Given the description of an element on the screen output the (x, y) to click on. 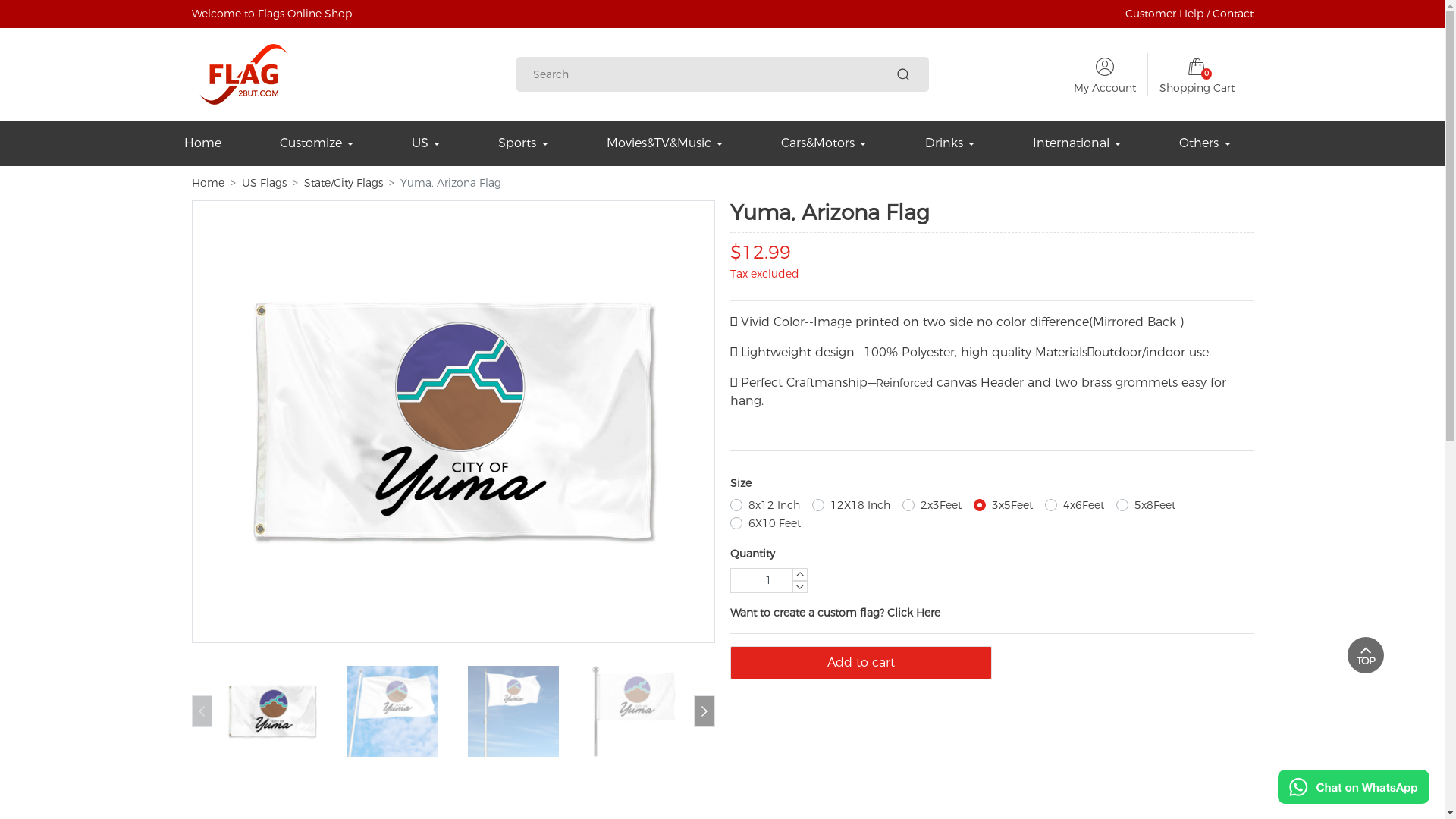
Customer Help / Contact Element type: text (1189, 13)
Home Element type: text (201, 143)
Home Element type: text (207, 183)
Drinks Element type: text (949, 143)
Others Element type: text (1204, 143)
Sports Element type: text (522, 143)
Add to cart Element type: text (860, 662)
International Element type: text (1076, 143)
US Flags Element type: text (263, 183)
Customize Element type: text (316, 143)
My Account Element type: text (1104, 87)
0
Shopping Cart Element type: text (1195, 74)
Want to create a custom flag? Click Here Element type: text (834, 612)
US Element type: text (425, 143)
Cars&Motors Element type: text (823, 143)
State/City Flags Element type: text (342, 183)
Movies&TV&Music Element type: text (664, 143)
2but Full Send Flag Element type: hover (242, 74)
TOP Element type: text (1365, 655)
